Given the description of an element on the screen output the (x, y) to click on. 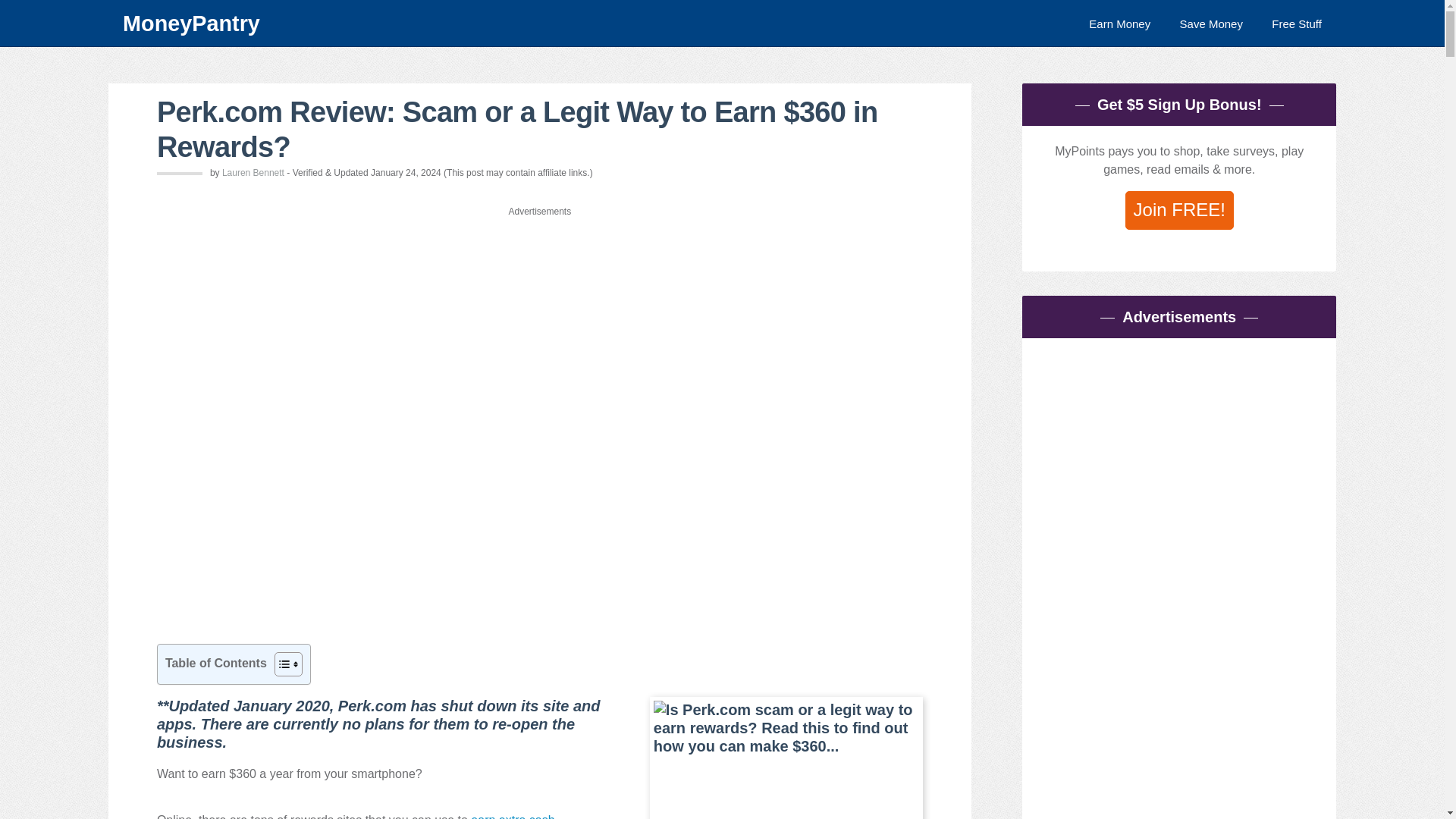
Earn Money (1119, 22)
Free Stuff (1296, 22)
Lauren Bennett (252, 172)
MoneyPantry (482, 22)
Save Money (1210, 22)
